Given the description of an element on the screen output the (x, y) to click on. 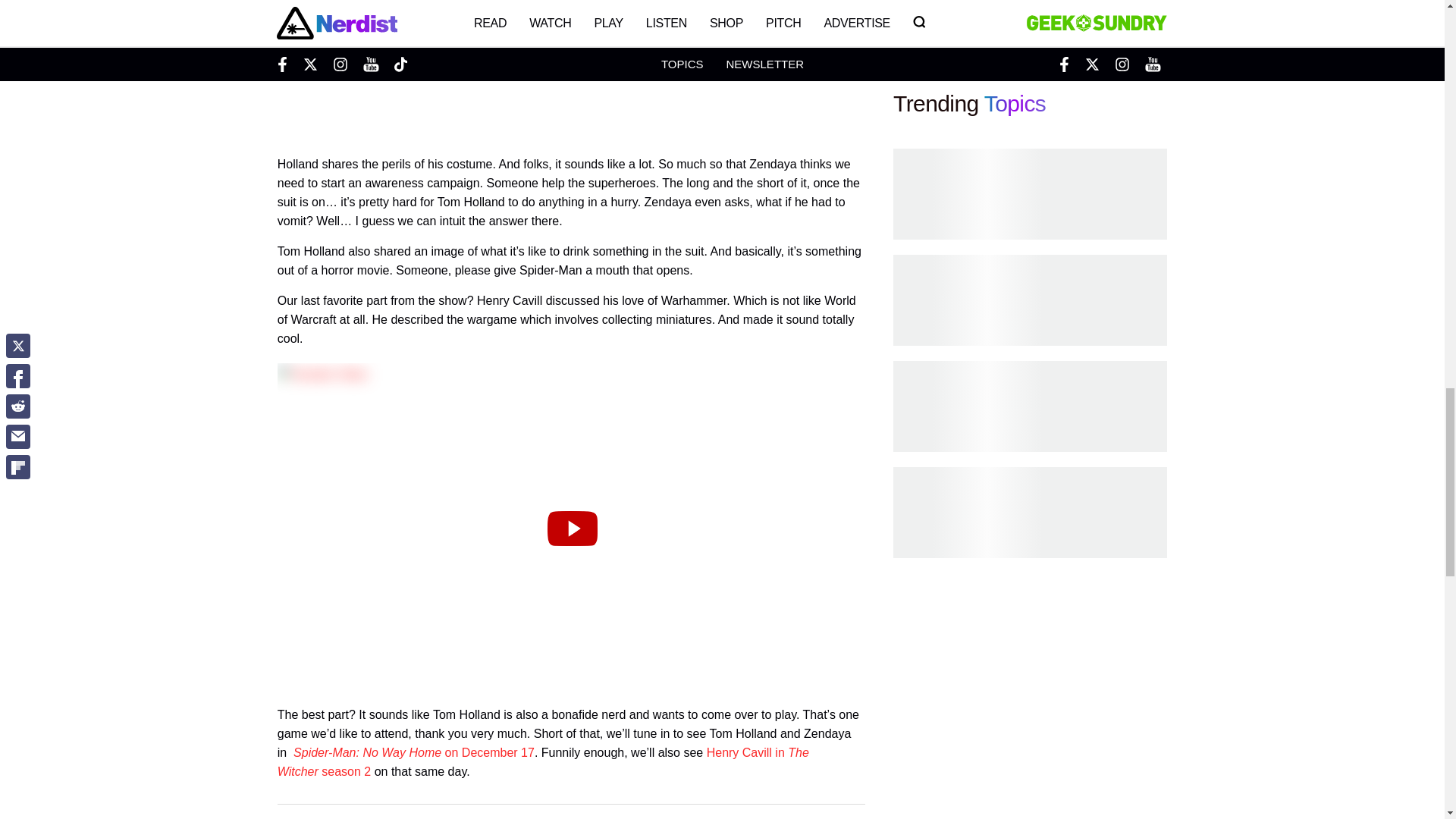
SPIDER-MAN (489, 818)
Henry Cavill in The Witcher season 2 (543, 762)
HENRY CAVILL (390, 818)
THE WITCHER (783, 818)
Spider-Man: No Way Home on December 17 (414, 752)
